Given the description of an element on the screen output the (x, y) to click on. 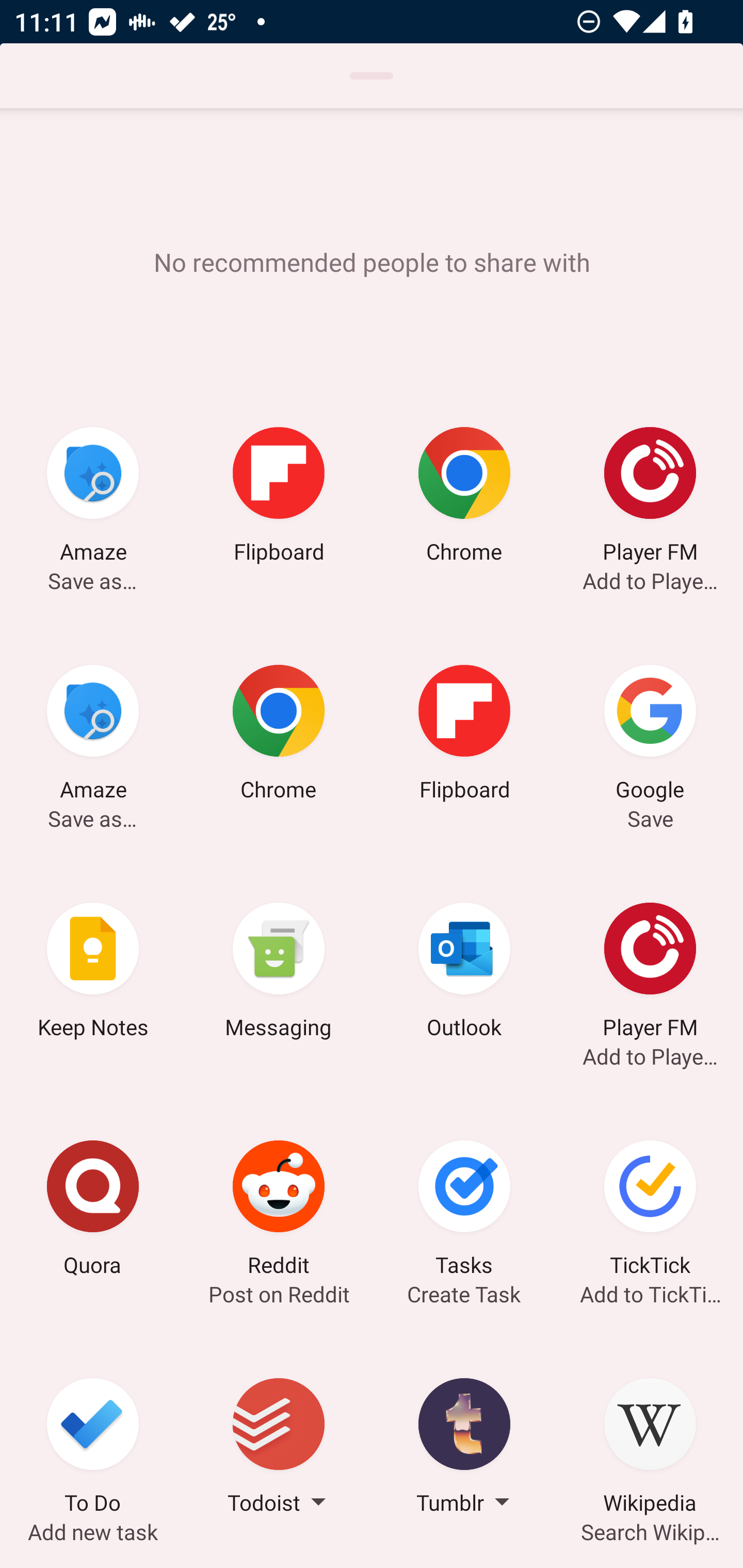
Amaze Save as… (92, 497)
Flipboard (278, 497)
Chrome (464, 497)
Player FM Add to Player FM (650, 497)
Amaze Save as… (92, 735)
Chrome (278, 735)
Flipboard (464, 735)
Google Save (650, 735)
Keep Notes (92, 973)
Messaging (278, 973)
Outlook (464, 973)
Player FM Add to Player FM (650, 973)
Quora (92, 1210)
Reddit Post on Reddit (278, 1210)
Tasks Create Task (464, 1210)
TickTick Add to TickTick (650, 1210)
To Do Add new task (92, 1448)
Todoist (278, 1448)
Tumblr (464, 1448)
Wikipedia Search Wikipedia (650, 1448)
